Given the description of an element on the screen output the (x, y) to click on. 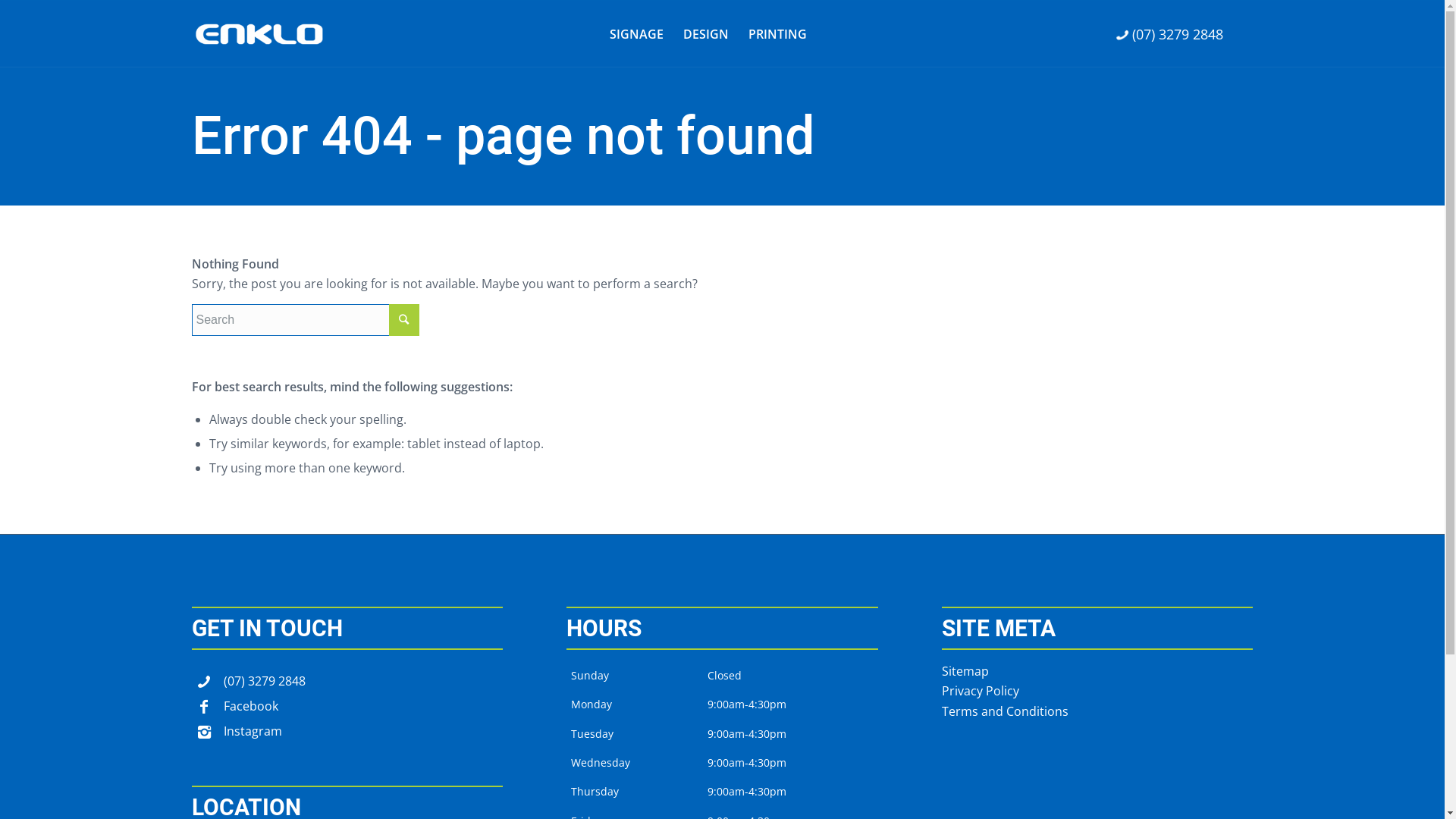
Facebook Element type: hover (203, 708)
Facebook Element type: text (249, 705)
Instagram Element type: text (251, 730)
SIGNAGE Element type: text (635, 33)
(07) 3279 2848 Element type: text (263, 680)
Sitemap Element type: text (964, 670)
(07) 3279 2848 Element type: text (1170, 34)
Instagram Element type: hover (203, 733)
Privacy Policy Element type: text (980, 690)
PRINTING Element type: text (777, 33)
Terms and Conditions Element type: text (1004, 710)
(07) 3279 2848 Element type: hover (203, 683)
DESIGN Element type: text (705, 33)
